Given the description of an element on the screen output the (x, y) to click on. 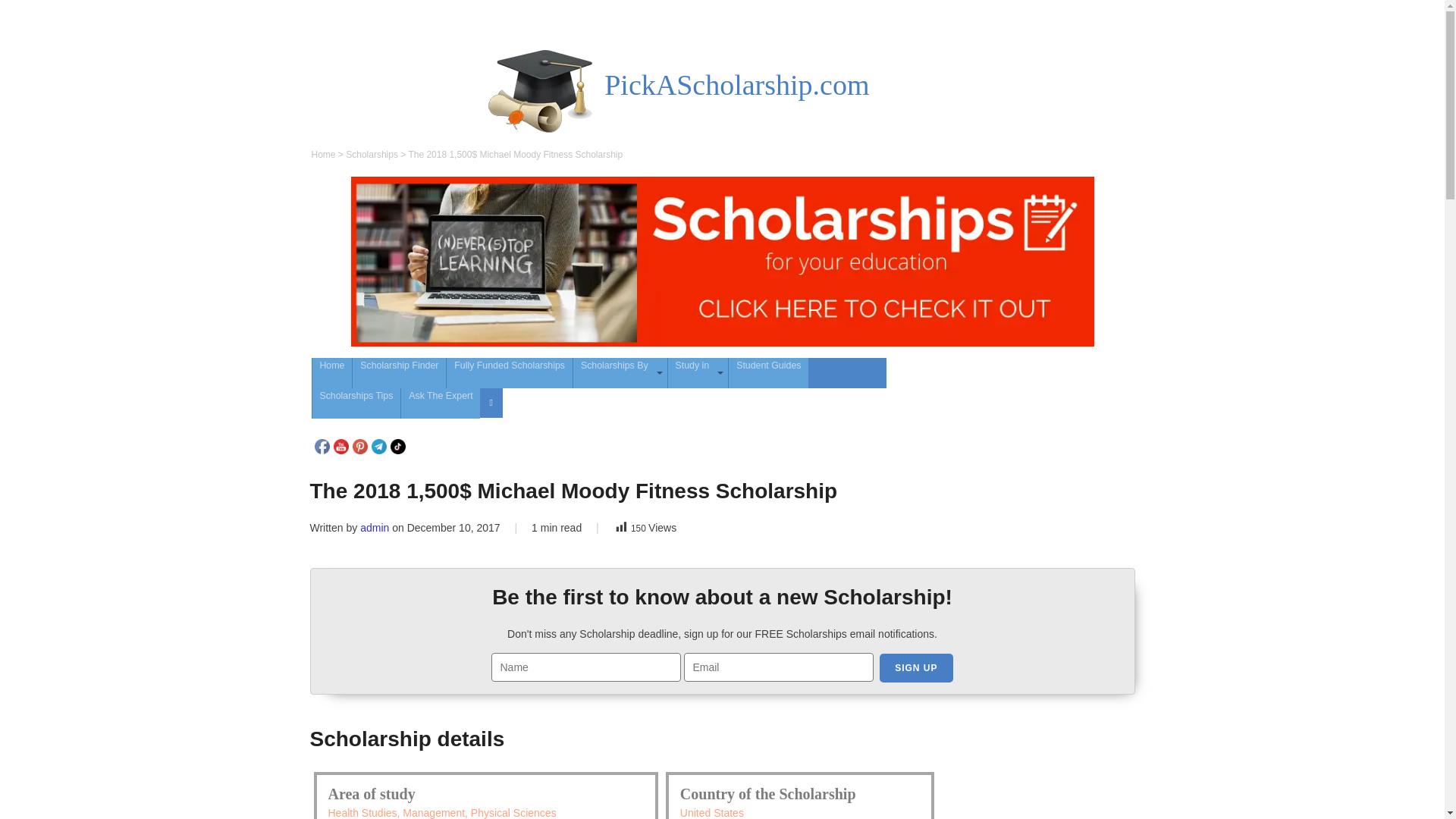
Facebook (321, 446)
YouTube (341, 446)
Scholarship Finder (398, 372)
Home (332, 372)
Home (322, 154)
Fully Funded Scholarships (509, 372)
Go to Scholarships. (371, 154)
Pinterest (359, 446)
Scholarships By (619, 372)
Scholarships (371, 154)
